Given the description of an element on the screen output the (x, y) to click on. 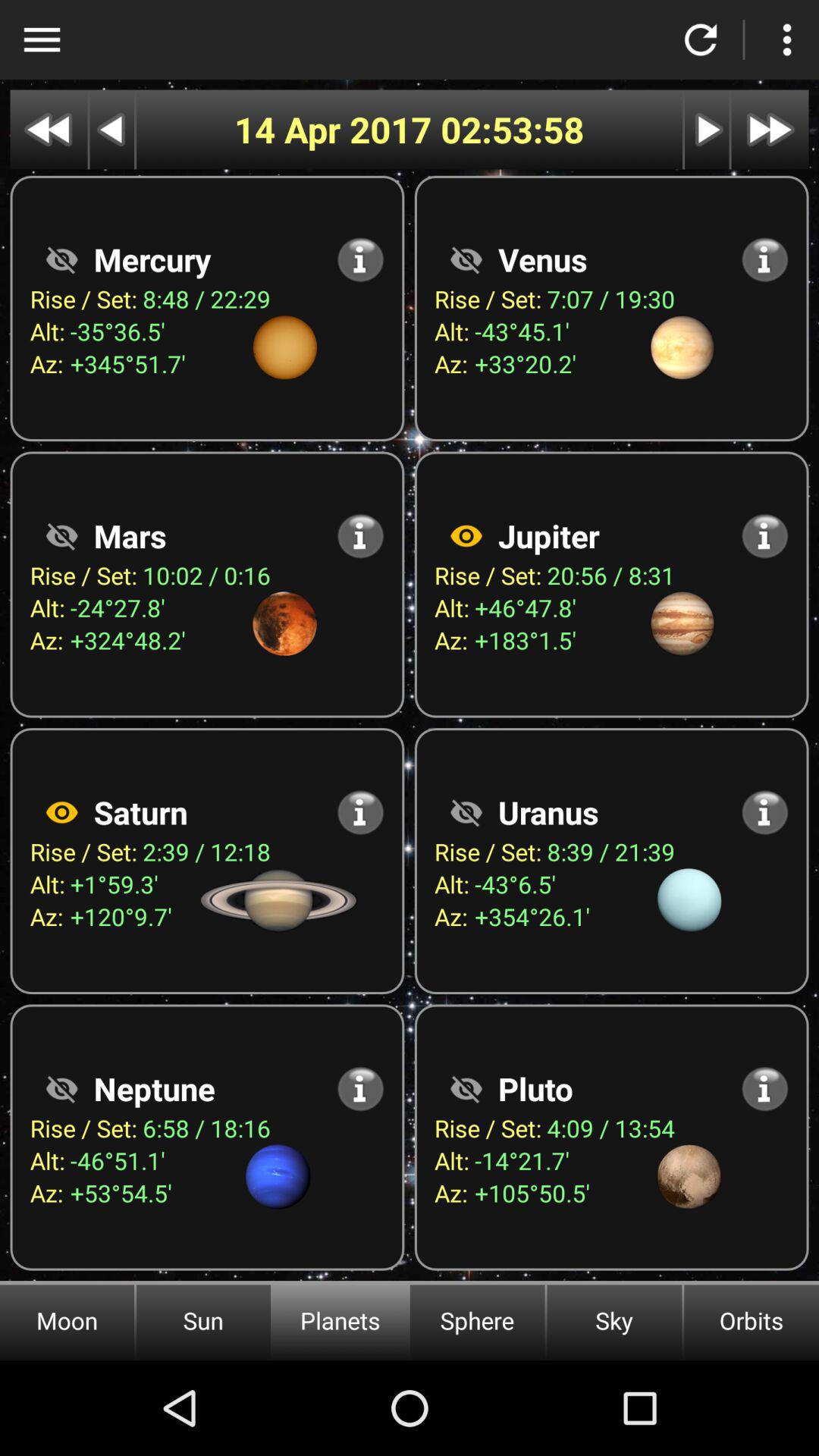
choose venus planet (466, 259)
